Given the description of an element on the screen output the (x, y) to click on. 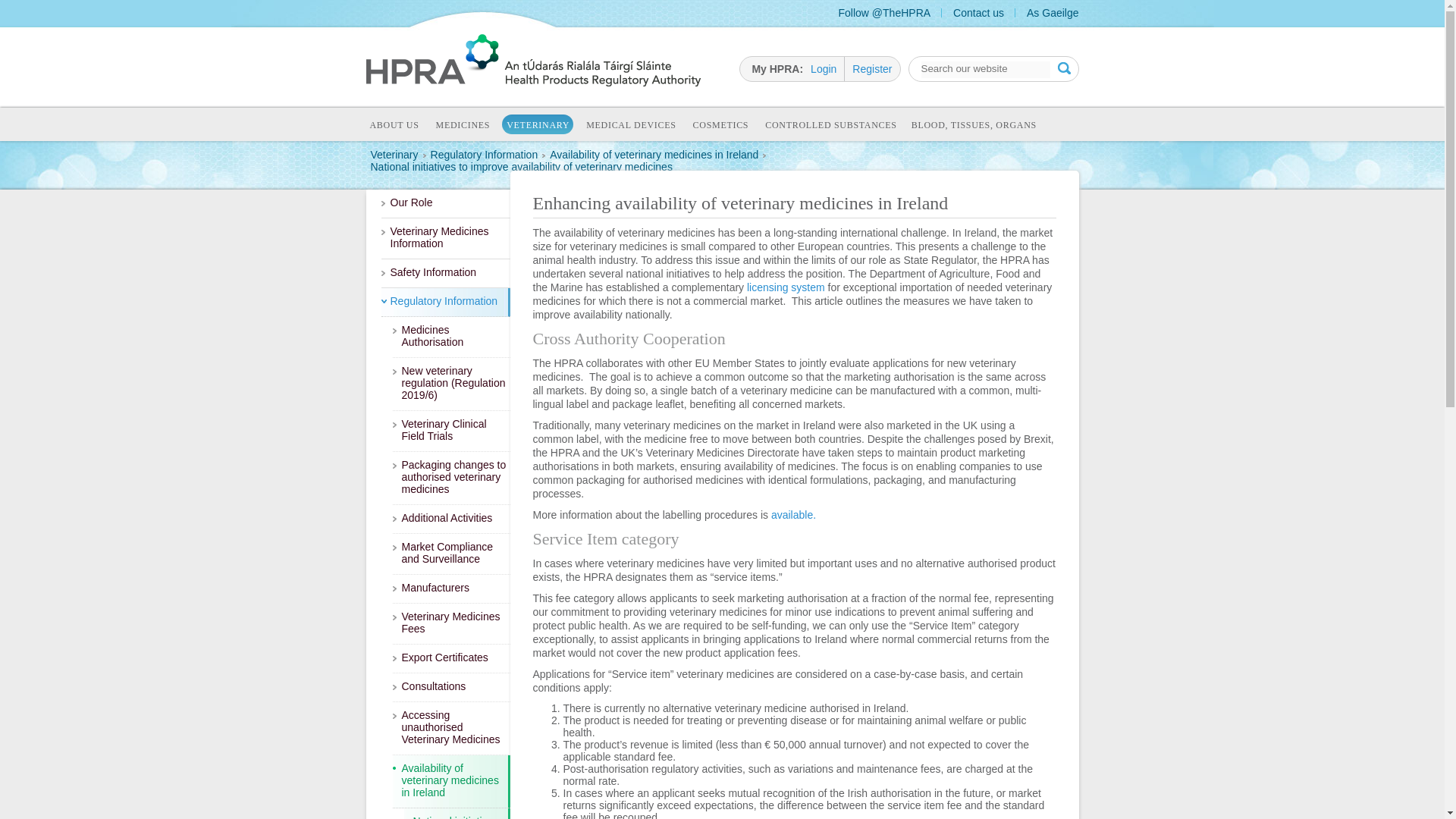
Medicines (462, 125)
VETERINARY (537, 124)
Go to Homepage of the website (532, 82)
Medical Devices (629, 125)
Manufacturers (452, 588)
Regulatory Information (444, 302)
Register (871, 68)
As Gaeilge (1052, 12)
Cosmetics (720, 125)
Controlled Substances (829, 125)
Veterinary Medicines Information (444, 238)
Regulatory Information (444, 302)
Contact us (978, 12)
Medicines Authorisation (452, 336)
